Given the description of an element on the screen output the (x, y) to click on. 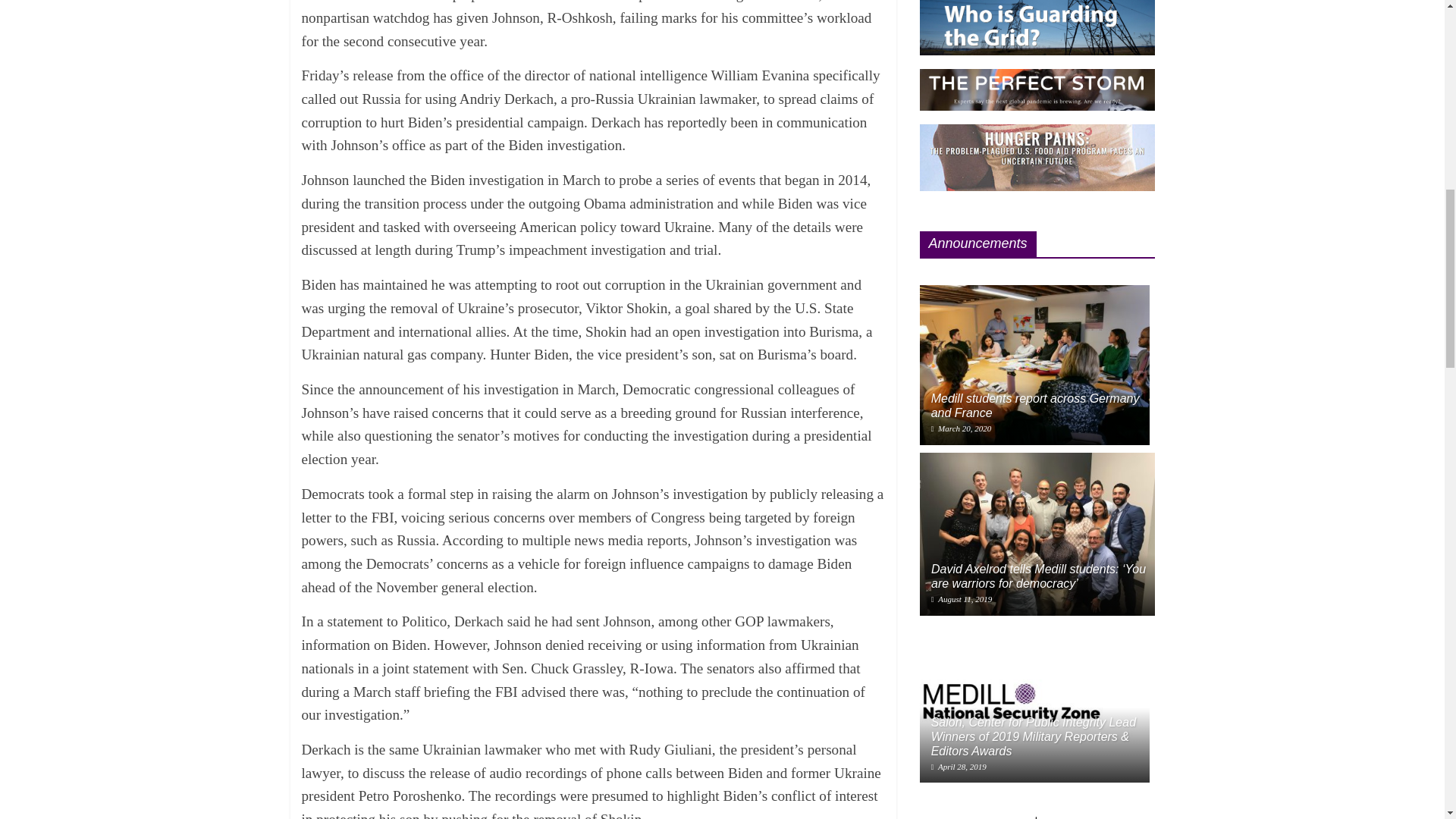
Medill students report across Germany and France (1034, 292)
9:20 pm (961, 428)
Medill students report across Germany and France (1034, 365)
6:12 pm (961, 598)
Medill students report across Germany and France (1035, 405)
